Given the description of an element on the screen output the (x, y) to click on. 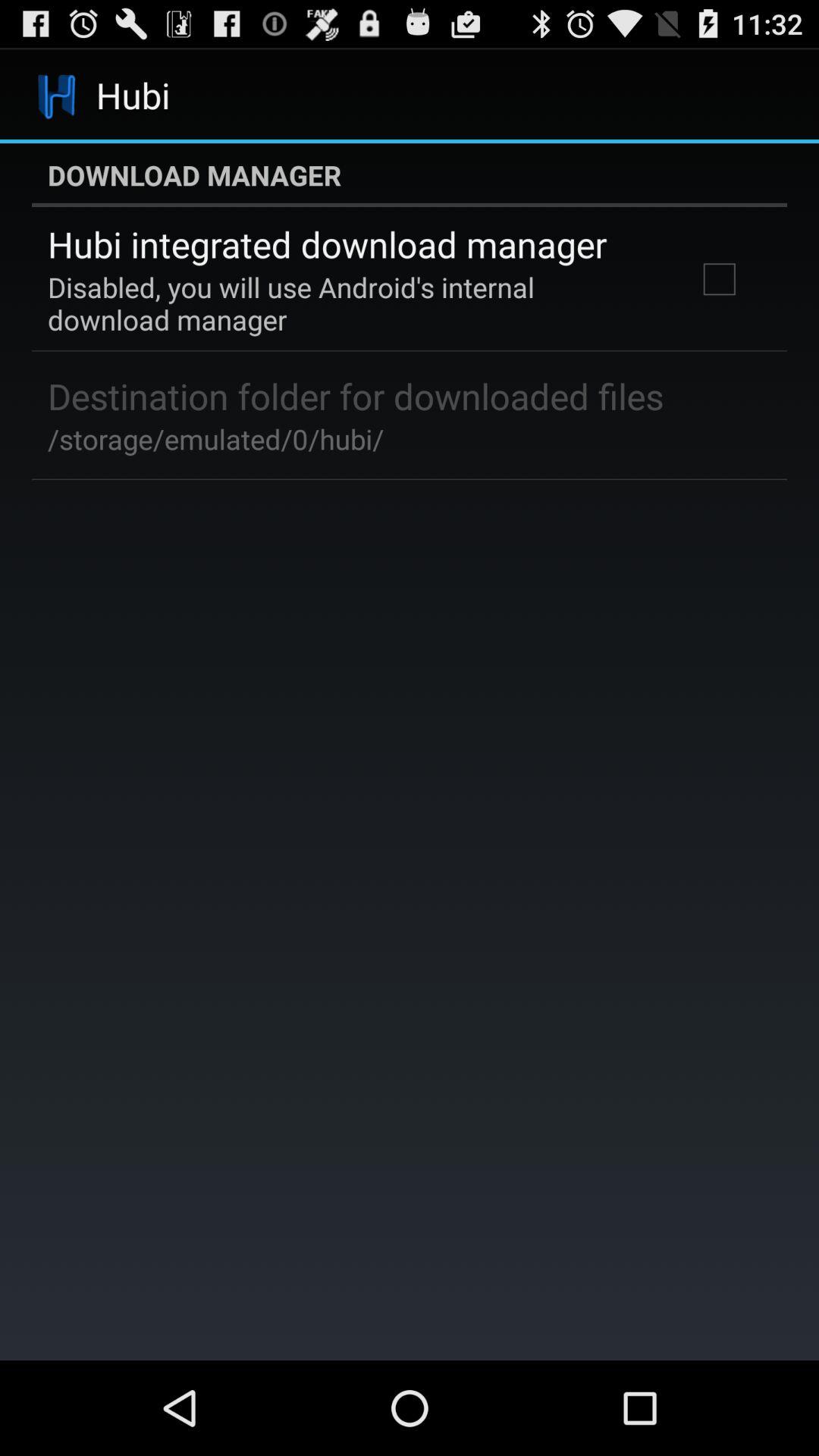
open item to the right of disabled you will icon (719, 279)
